Given the description of an element on the screen output the (x, y) to click on. 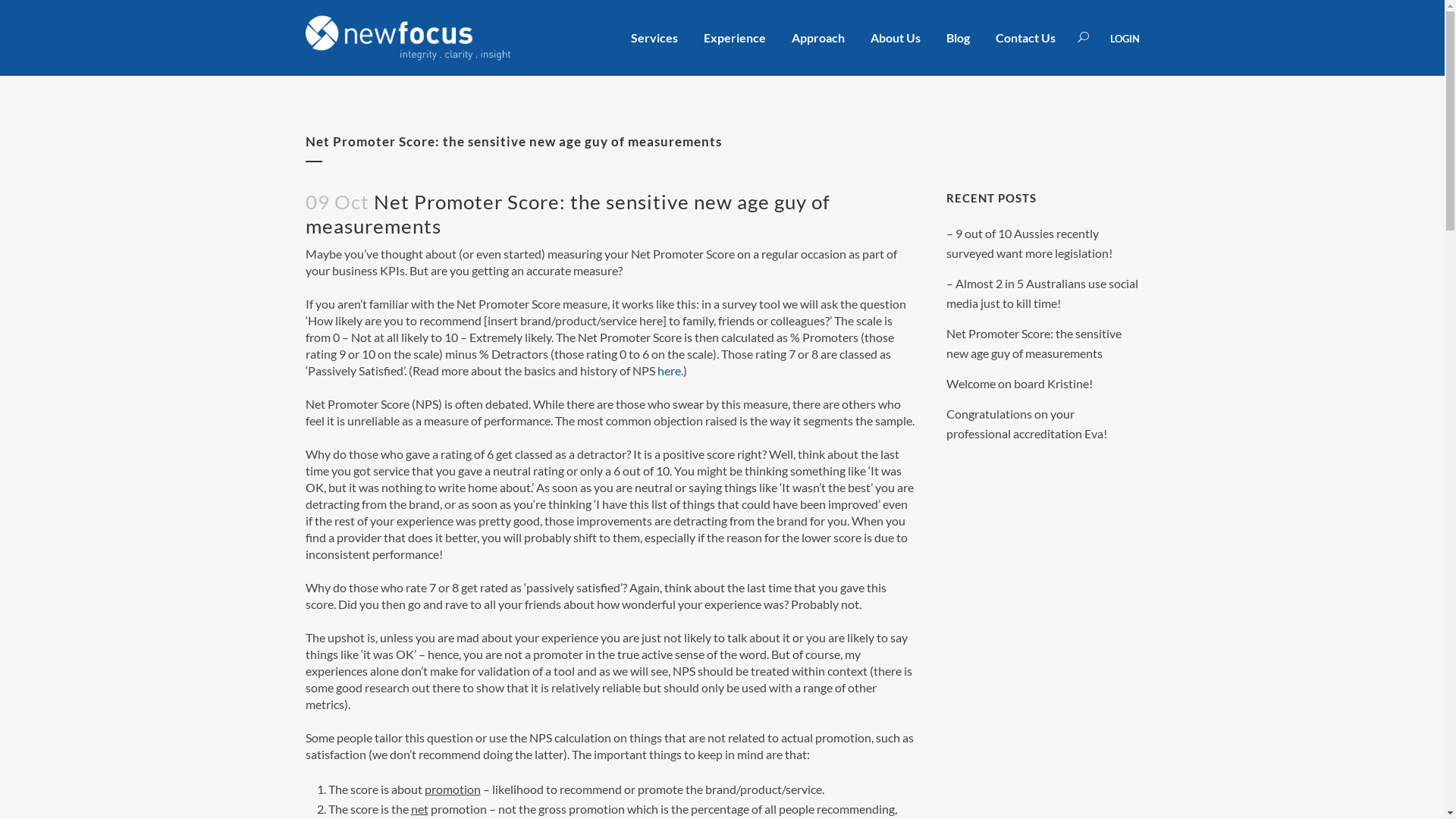
Congratulations on your professional accreditation Eva! Element type: text (1026, 423)
Blog Element type: text (957, 37)
Experience Element type: text (734, 37)
About Us Element type: text (894, 37)
here Element type: text (668, 370)
Contact Us Element type: text (1025, 37)
Approach Element type: text (817, 37)
Welcome on board Kristine! Element type: text (1019, 383)
Services Element type: text (653, 37)
